Given the description of an element on the screen output the (x, y) to click on. 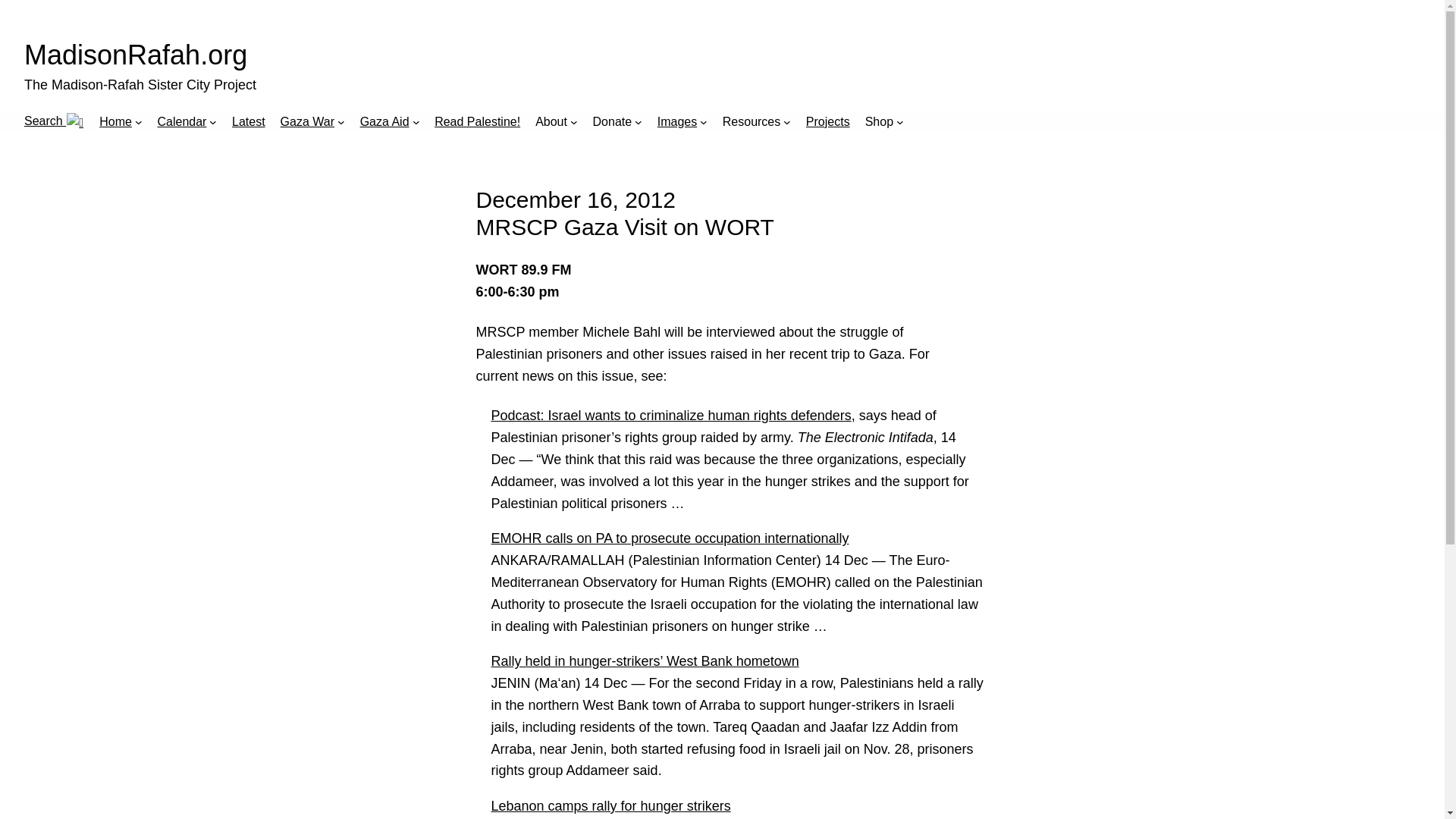
Gaza Aid (384, 121)
Home (115, 121)
Gaza War (307, 121)
Search (54, 121)
Calendar (181, 121)
Latest (247, 121)
